Given the description of an element on the screen output the (x, y) to click on. 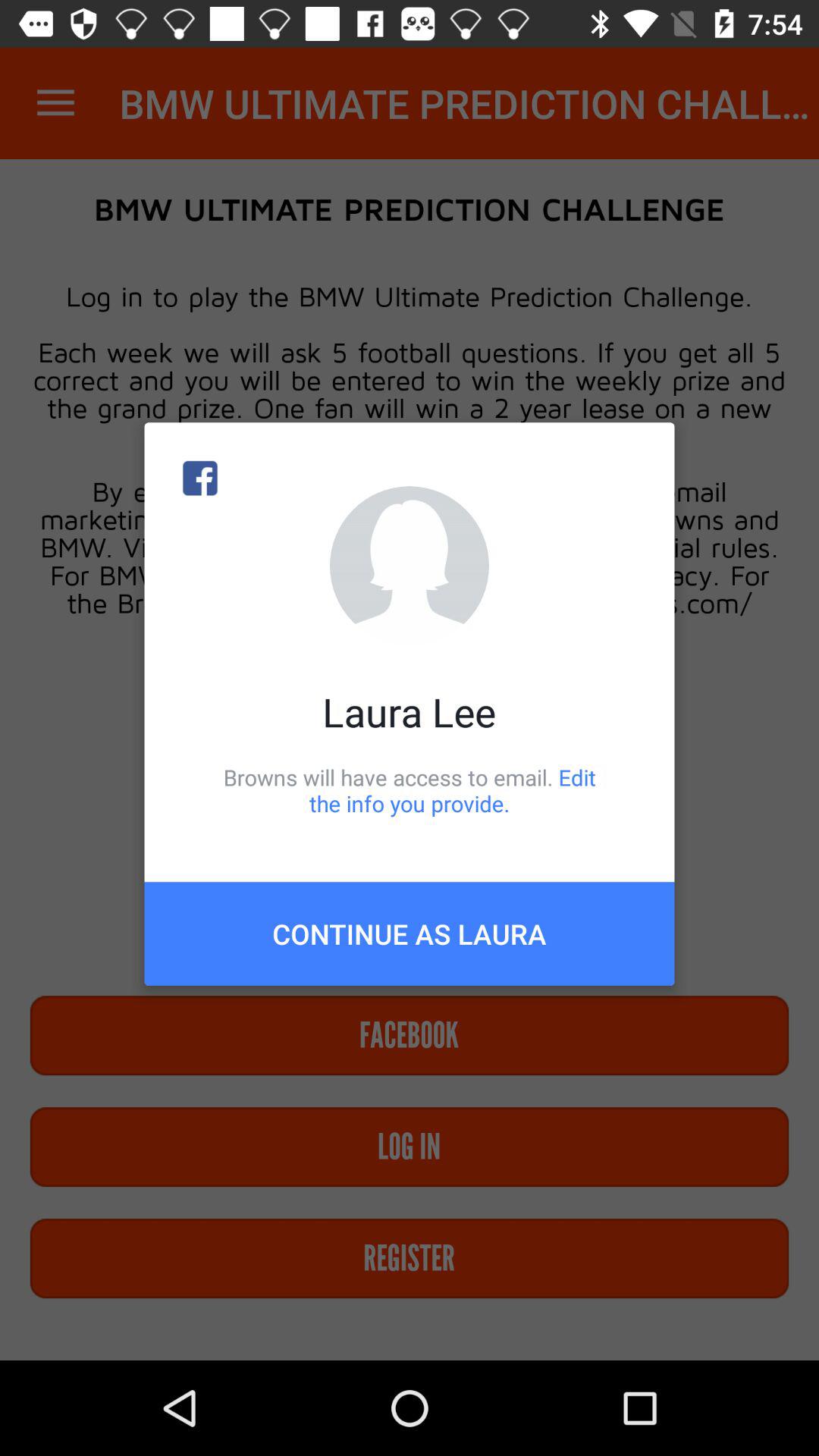
turn on item below the browns will have (409, 933)
